Given the description of an element on the screen output the (x, y) to click on. 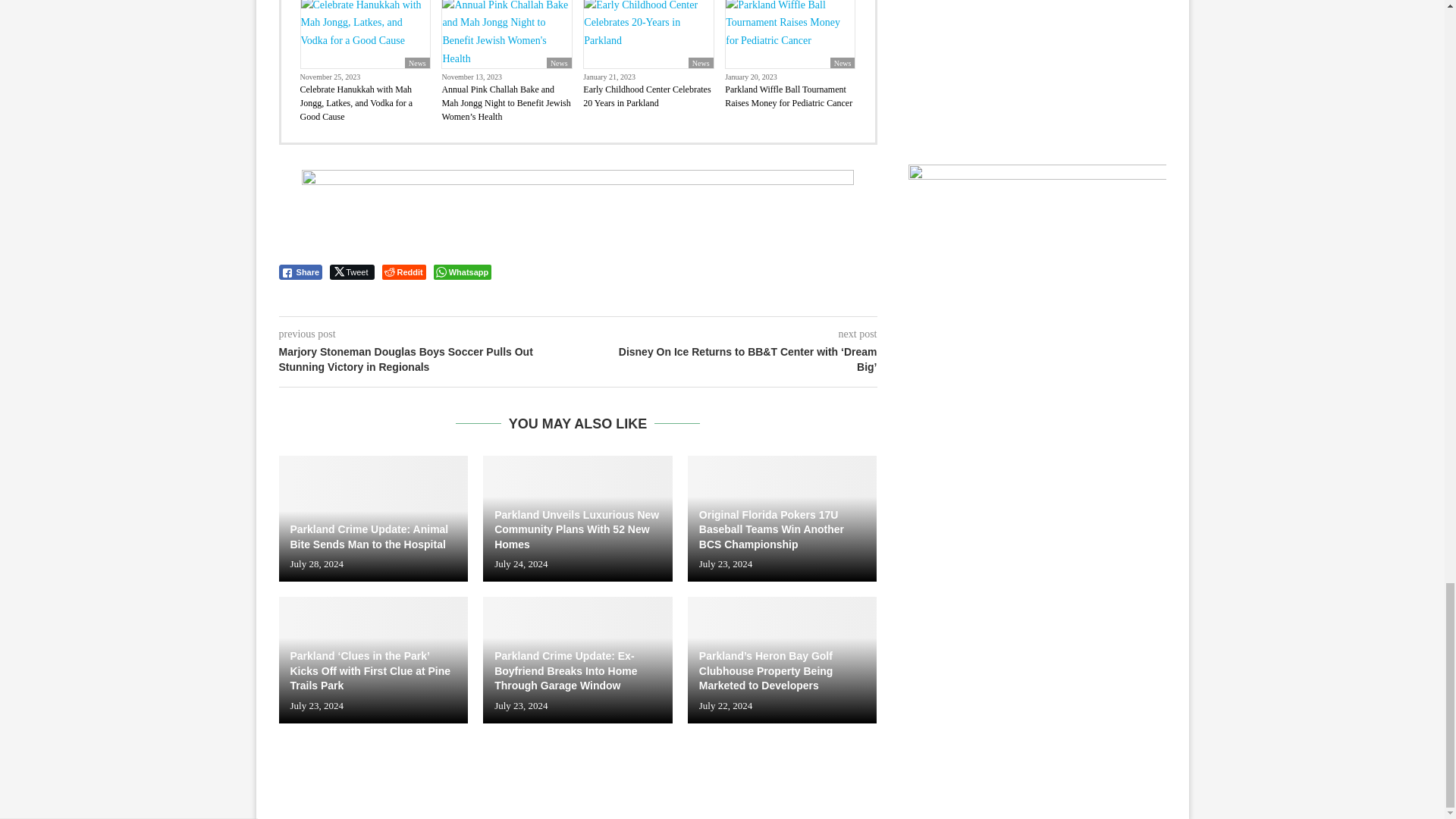
Early Childhood Center Celebrates 20 Years in Parkland 4 (648, 34)
Parkland Crime Update: Animal Bite Sends Man to the Hospital (373, 518)
